Given the description of an element on the screen output the (x, y) to click on. 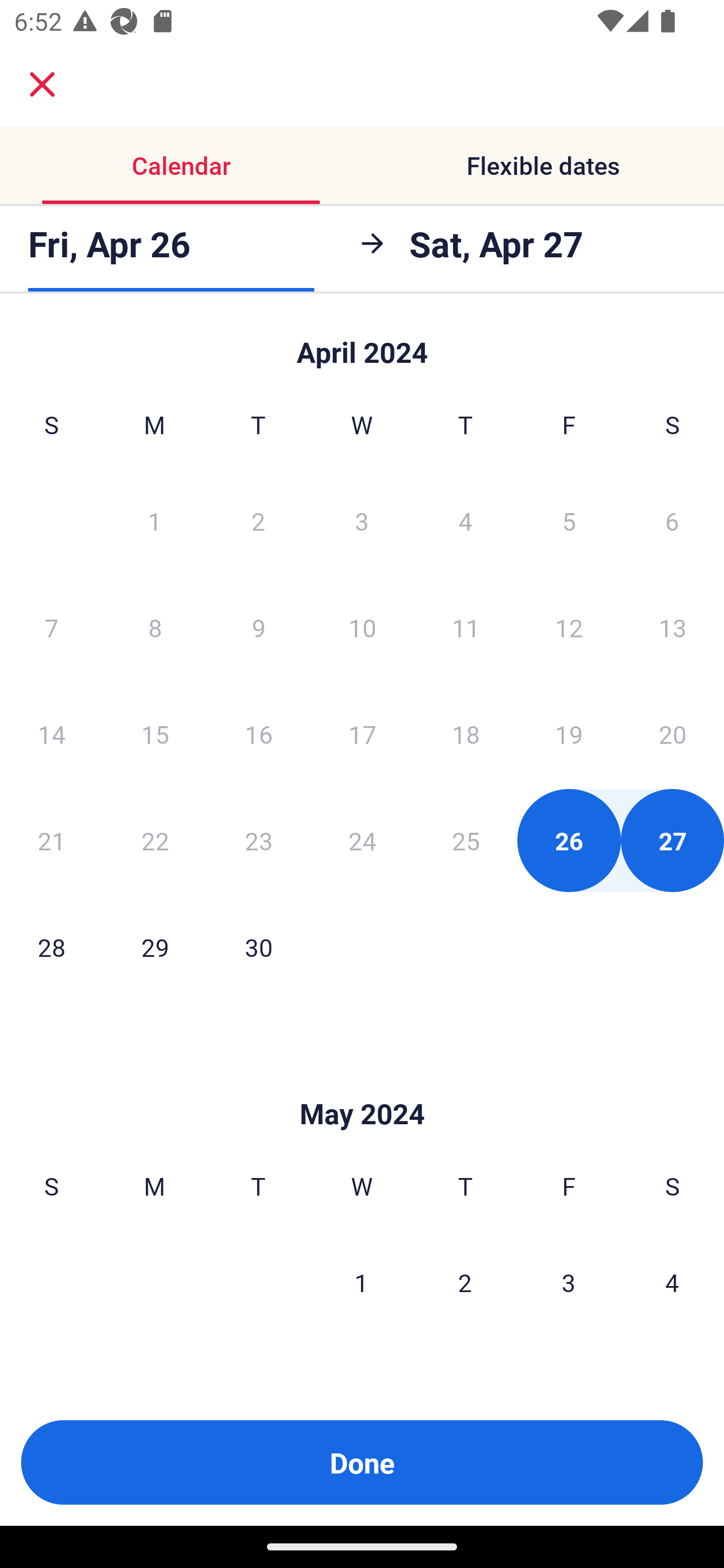
close. (42, 84)
Flexible dates (542, 164)
Skip to Done (362, 343)
1 Monday, April 1, 2024 (154, 520)
2 Tuesday, April 2, 2024 (257, 520)
3 Wednesday, April 3, 2024 (361, 520)
4 Thursday, April 4, 2024 (465, 520)
5 Friday, April 5, 2024 (568, 520)
6 Saturday, April 6, 2024 (672, 520)
7 Sunday, April 7, 2024 (51, 626)
8 Monday, April 8, 2024 (155, 626)
9 Tuesday, April 9, 2024 (258, 626)
10 Wednesday, April 10, 2024 (362, 626)
11 Thursday, April 11, 2024 (465, 626)
12 Friday, April 12, 2024 (569, 626)
13 Saturday, April 13, 2024 (672, 626)
14 Sunday, April 14, 2024 (51, 733)
15 Monday, April 15, 2024 (155, 733)
16 Tuesday, April 16, 2024 (258, 733)
17 Wednesday, April 17, 2024 (362, 733)
18 Thursday, April 18, 2024 (465, 733)
19 Friday, April 19, 2024 (569, 733)
20 Saturday, April 20, 2024 (672, 733)
21 Sunday, April 21, 2024 (51, 840)
22 Monday, April 22, 2024 (155, 840)
23 Tuesday, April 23, 2024 (258, 840)
24 Wednesday, April 24, 2024 (362, 840)
25 Thursday, April 25, 2024 (465, 840)
28 Sunday, April 28, 2024 (51, 946)
29 Monday, April 29, 2024 (155, 946)
30 Tuesday, April 30, 2024 (258, 946)
Skip to Done (362, 1083)
1 Wednesday, May 1, 2024 (361, 1282)
2 Thursday, May 2, 2024 (464, 1282)
3 Friday, May 3, 2024 (568, 1282)
4 Saturday, May 4, 2024 (672, 1282)
Done (361, 1462)
